Given the description of an element on the screen output the (x, y) to click on. 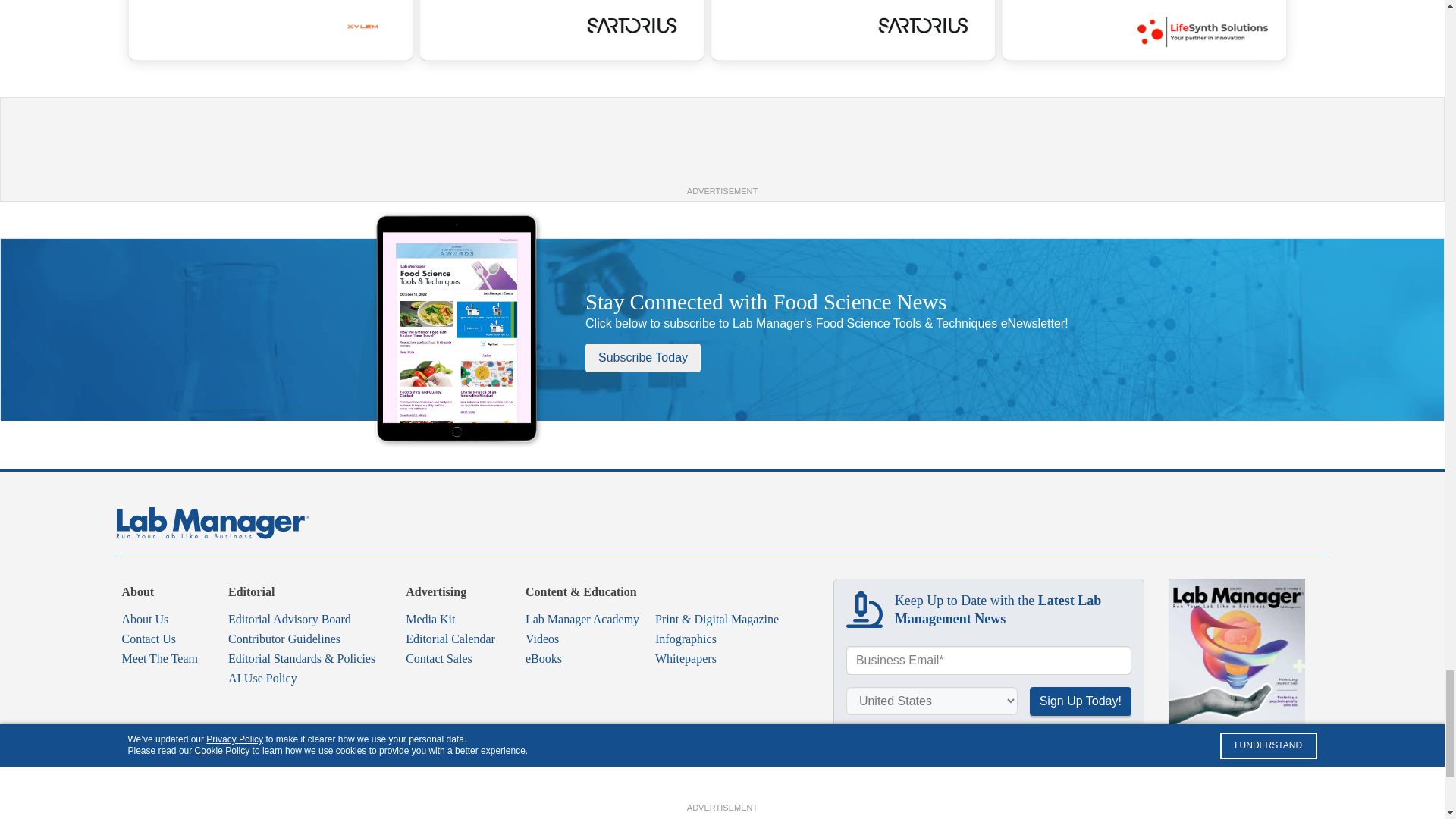
3rd party ad content (722, 149)
Sign Up Today! (1080, 701)
